Given the description of an element on the screen output the (x, y) to click on. 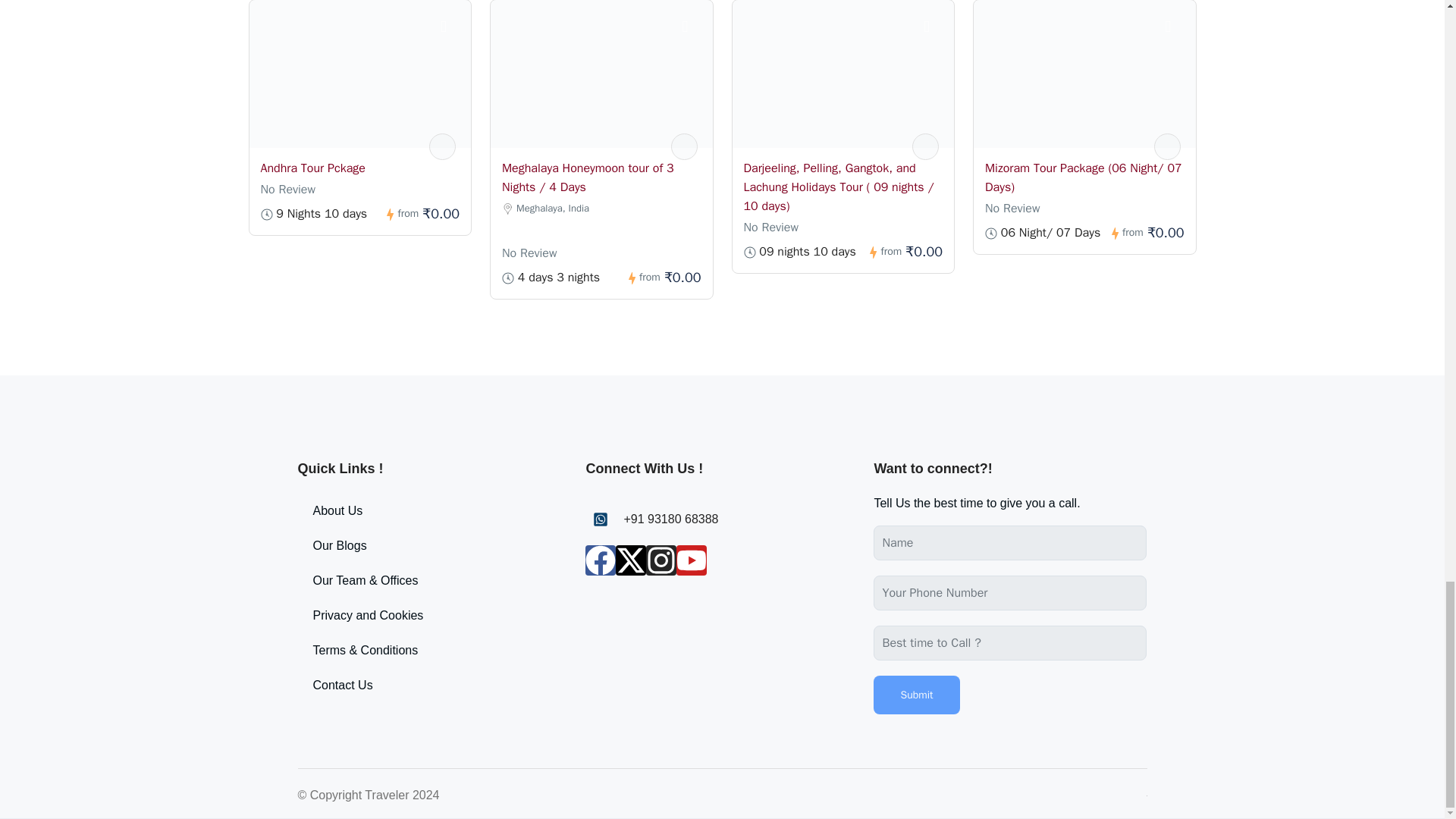
Add to wishlist (934, 27)
Submit (916, 694)
meetmyholiders (683, 146)
meetmyholiders (1167, 146)
Add to wishlist (693, 27)
meetmyholiders (925, 146)
Add to wishlist (1176, 27)
meetmyholiders (442, 146)
Add to wishlist (452, 27)
